Given the description of an element on the screen output the (x, y) to click on. 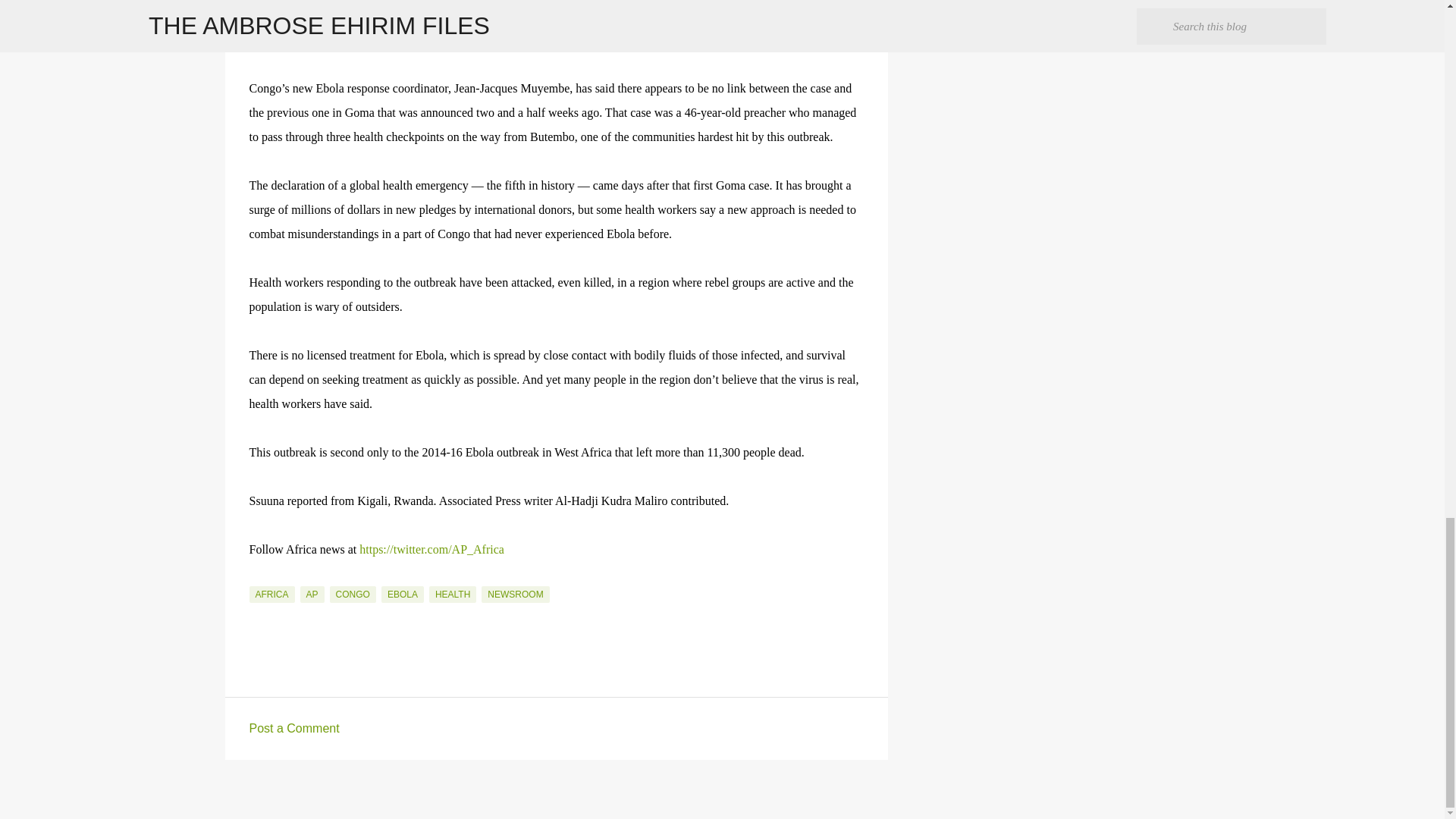
CONGO (352, 594)
EBOLA (402, 594)
HEALTH (452, 594)
Post a Comment (293, 727)
AP (311, 594)
Email Post (257, 576)
AFRICA (271, 594)
NEWSROOM (514, 594)
